Given the description of an element on the screen output the (x, y) to click on. 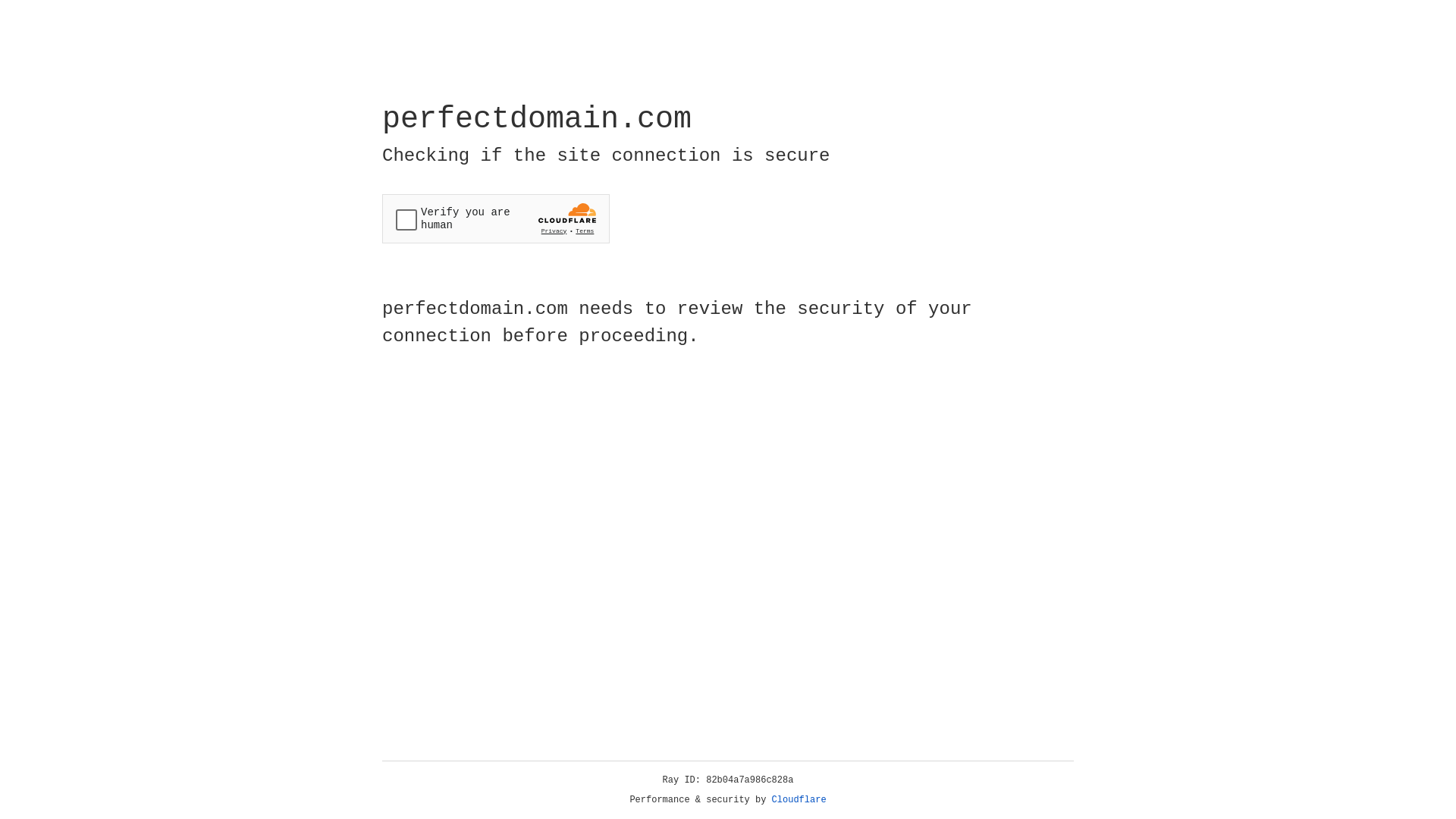
Widget containing a Cloudflare security challenge Element type: hover (495, 218)
Cloudflare Element type: text (798, 799)
